Given the description of an element on the screen output the (x, y) to click on. 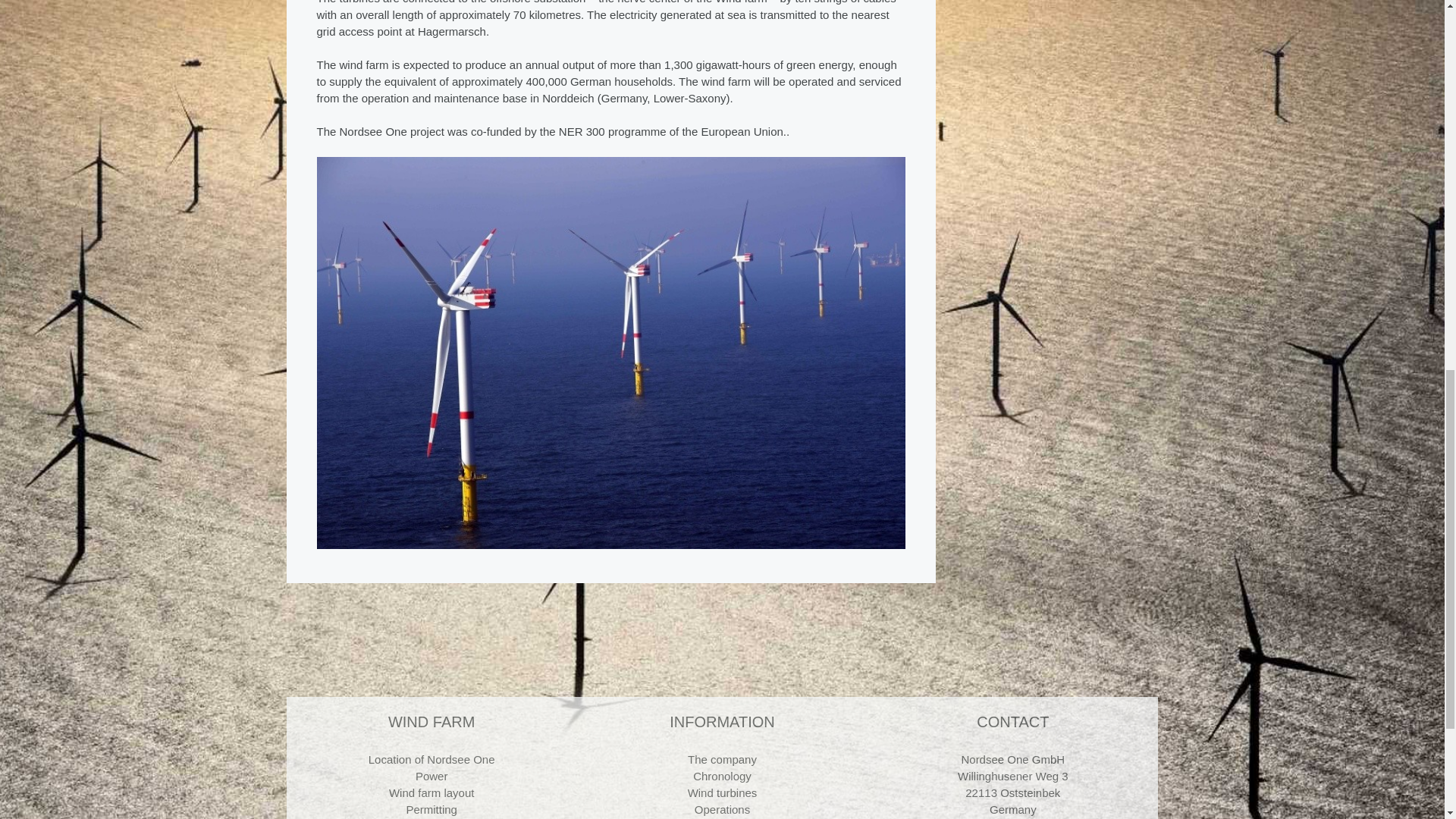
Wind farm layout (431, 792)
Power (431, 775)
The company (722, 758)
Permitting (431, 809)
Location of Nordsee One (431, 758)
